Given the description of an element on the screen output the (x, y) to click on. 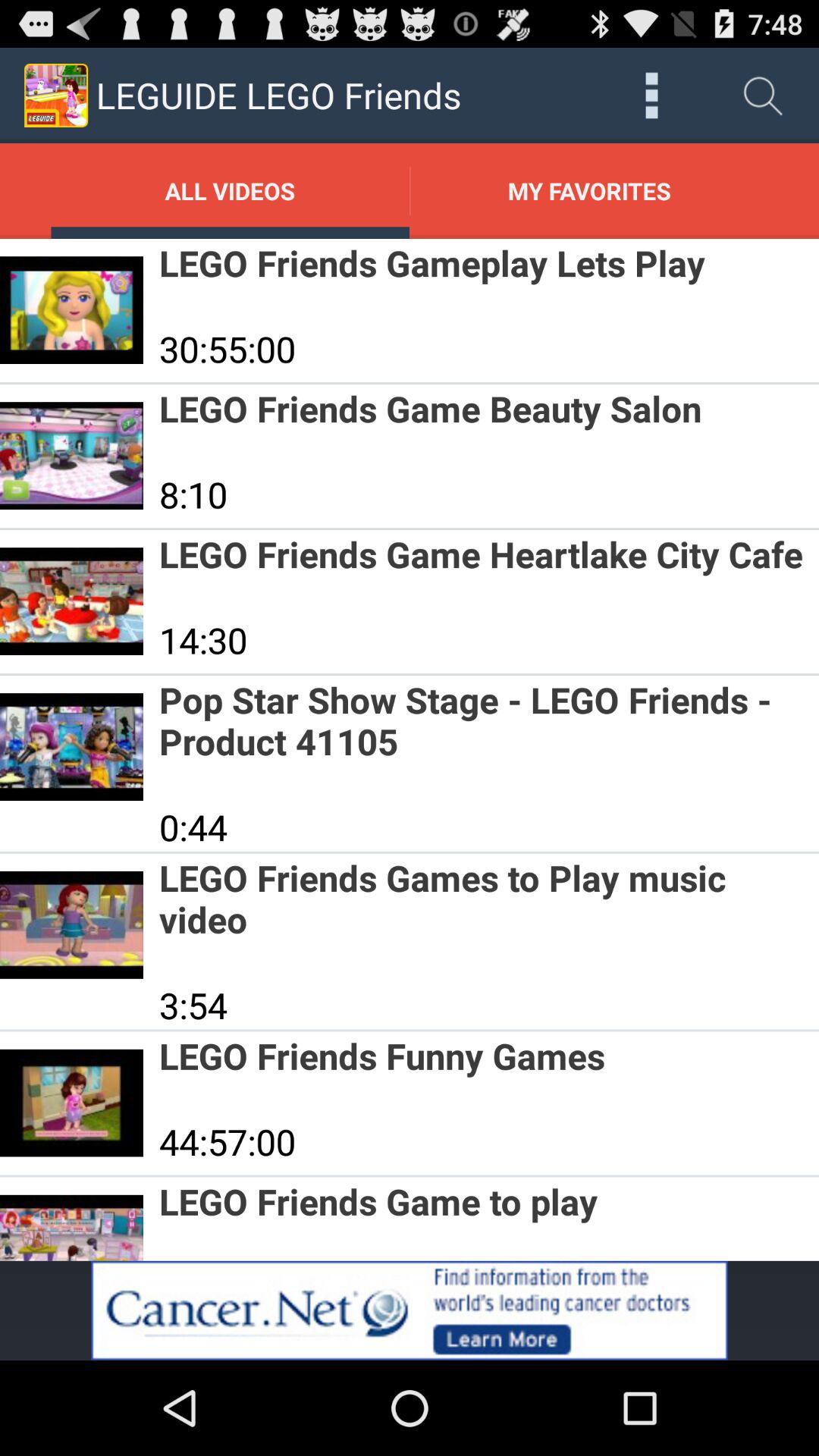
go to menu button (651, 95)
